Given the description of an element on the screen output the (x, y) to click on. 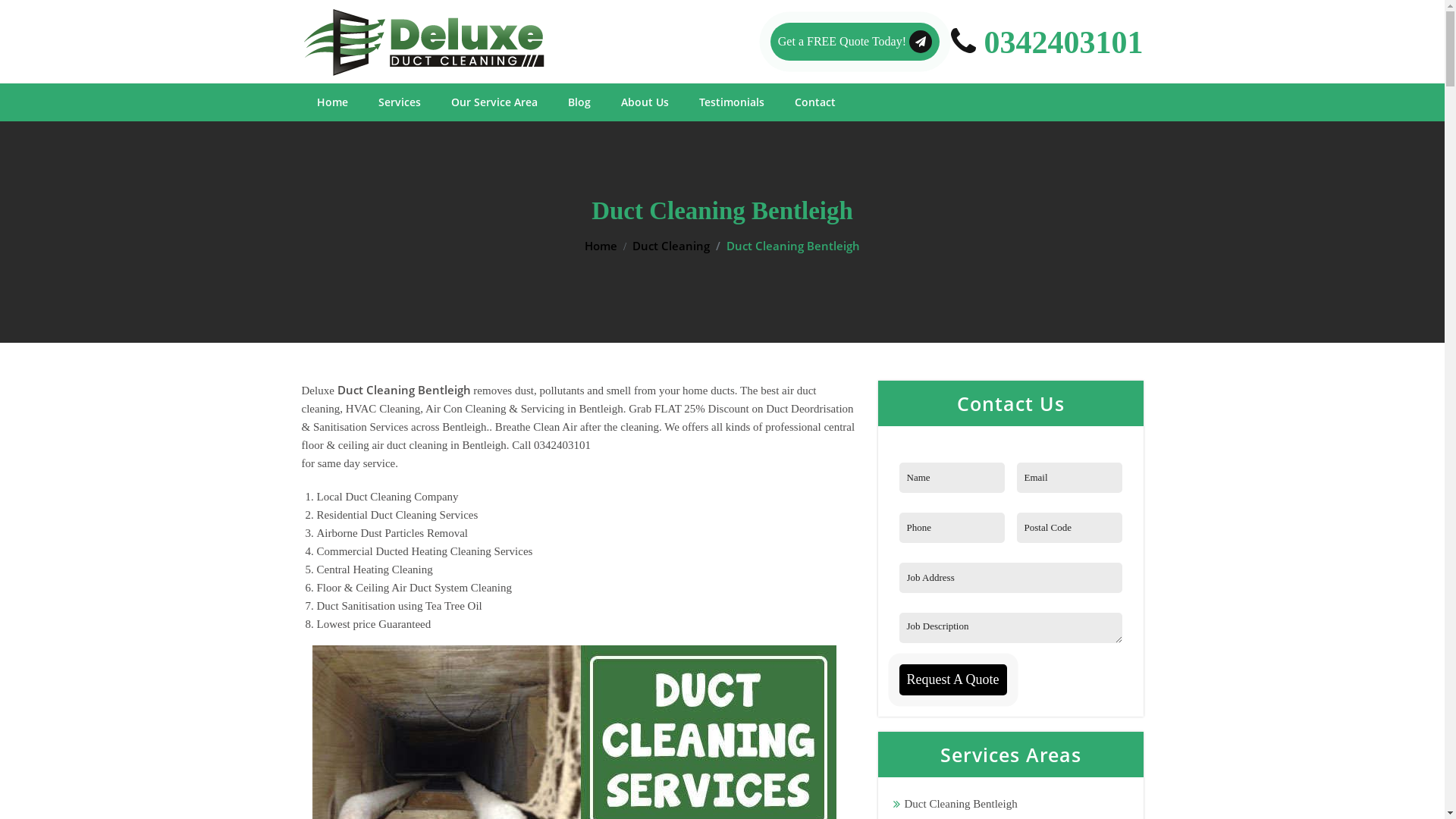
0342403101 Element type: text (1046, 41)
Get a FREE Quote Today! Element type: text (854, 41)
Our Service Area Element type: text (493, 102)
Testimonials Element type: text (731, 102)
Contact Element type: text (814, 102)
Blog Element type: text (578, 102)
Duct Cleaning Element type: text (670, 245)
Home Element type: text (600, 245)
Home Element type: text (332, 102)
Request A Quote Element type: text (953, 679)
About Us Element type: text (644, 102)
Services Element type: text (398, 102)
